Given the description of an element on the screen output the (x, y) to click on. 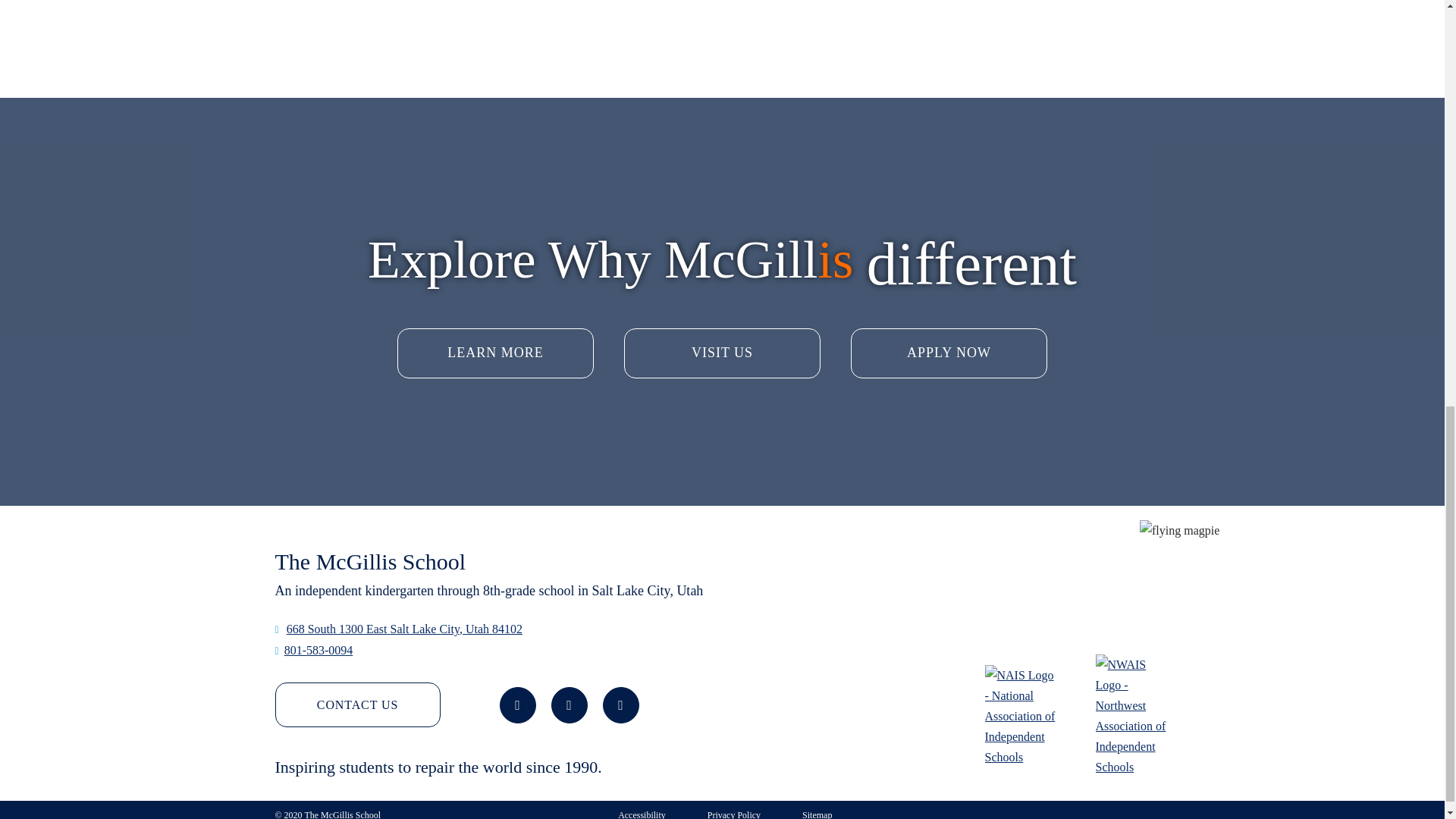
Powered by Finalsite opens in a new window (1118, 813)
